Given the description of an element on the screen output the (x, y) to click on. 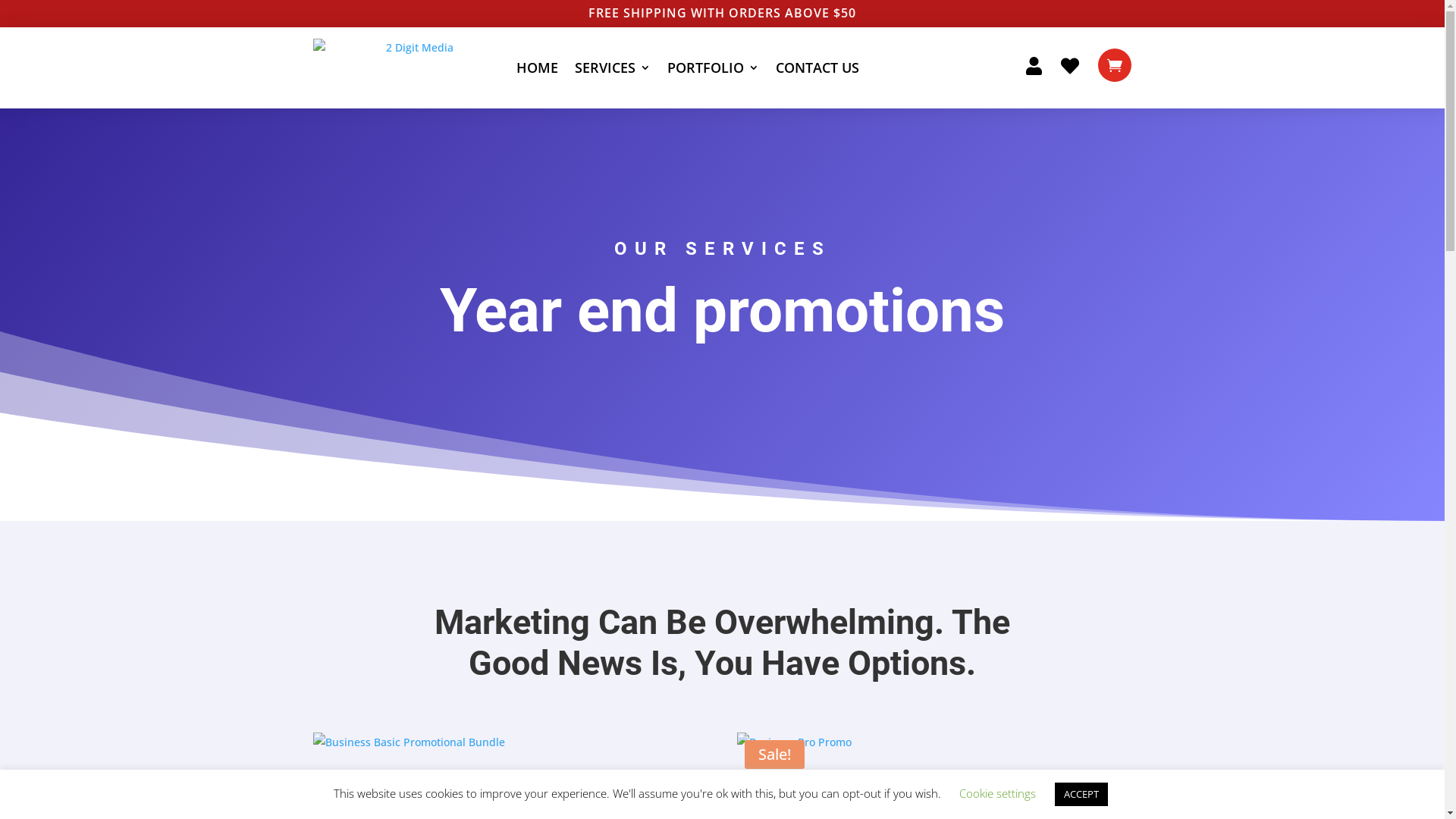
ACCEPT Element type: text (1080, 794)
CONTACT US Element type: text (816, 67)
Cookie settings Element type: text (996, 792)
HOME Element type: text (536, 67)
PORTFOLIO Element type: text (713, 67)
SERVICES Element type: text (612, 67)
